Given the description of an element on the screen output the (x, y) to click on. 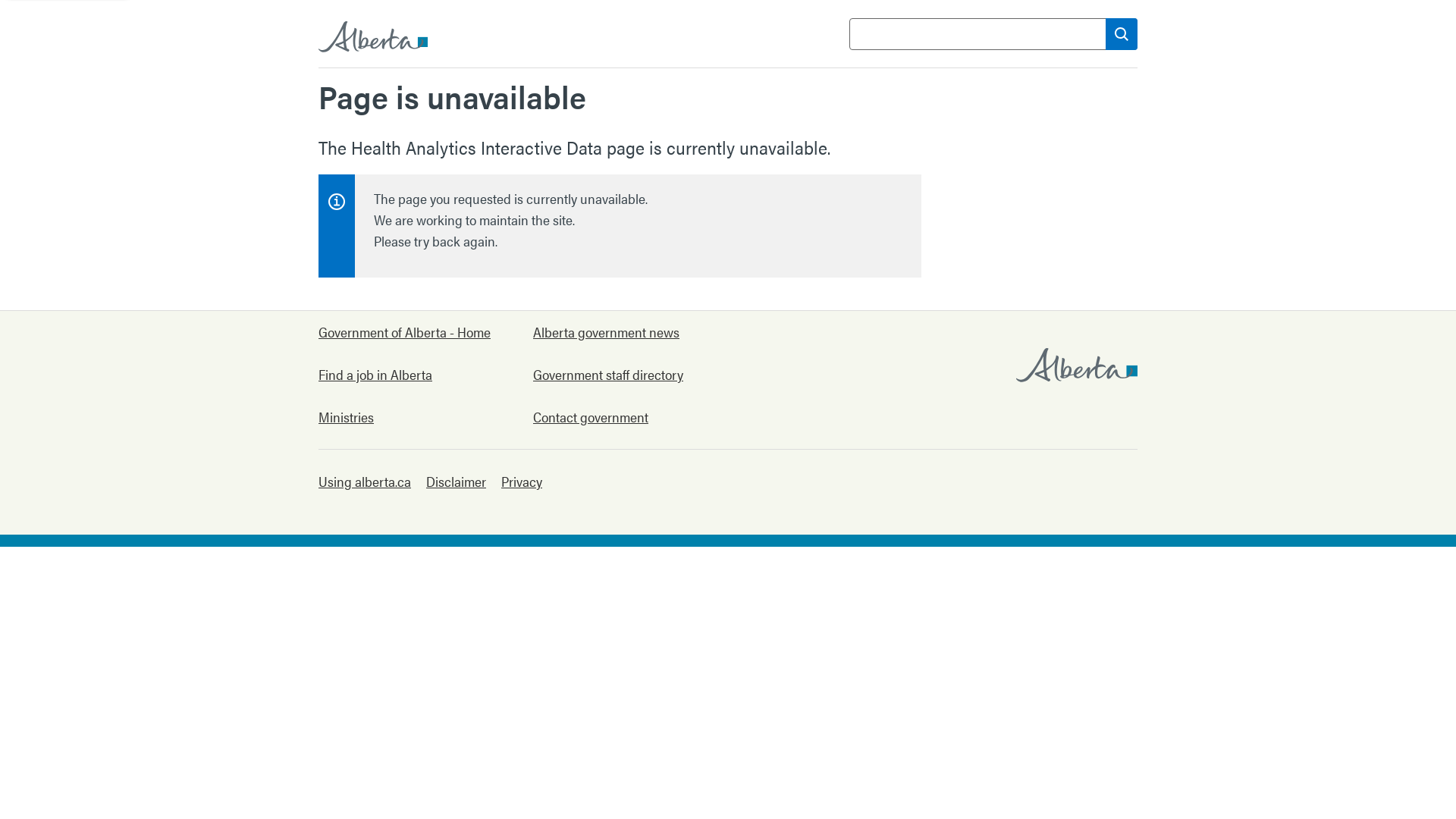
Disclaimer Element type: text (456, 481)
Find a job in Alberta Element type: text (404, 374)
Using alberta.ca Element type: text (364, 481)
Contact government Element type: text (619, 416)
Government staff directory Element type: text (619, 374)
Ministries Element type: text (404, 416)
Government of Alberta - Home Element type: text (404, 331)
Privacy Element type: text (521, 481)
Alberta government news Element type: text (619, 331)
